Given the description of an element on the screen output the (x, y) to click on. 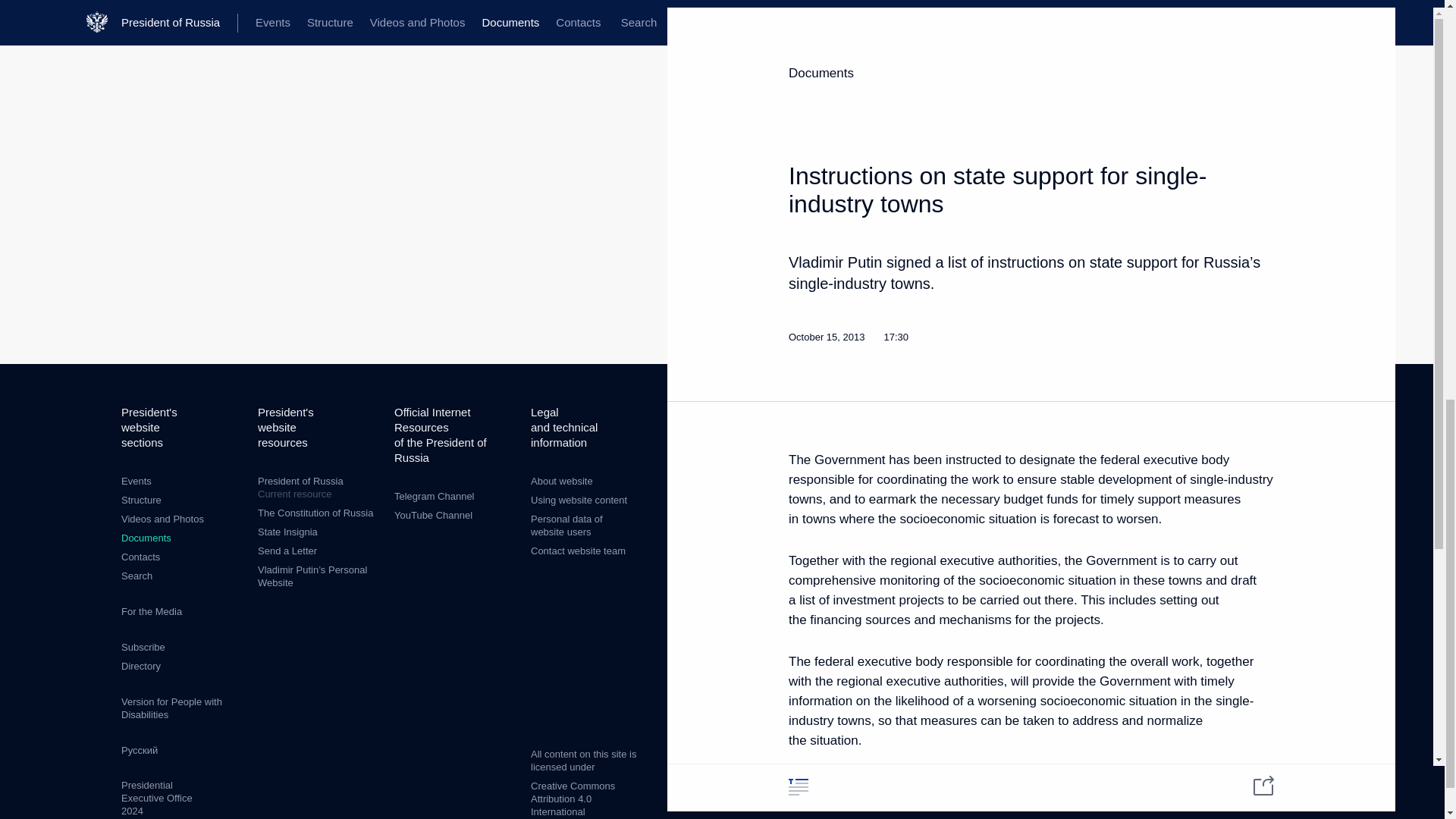
Creative Commons Attribution 4.0 International (572, 798)
Personal data of website users (566, 525)
Using website content (579, 500)
Events (135, 480)
Videos and Photos (161, 518)
State Insignia (287, 531)
Contact website team (578, 550)
Contacts (140, 556)
Version for People with Disabilities (171, 708)
Subscribe (142, 646)
